Given the description of an element on the screen output the (x, y) to click on. 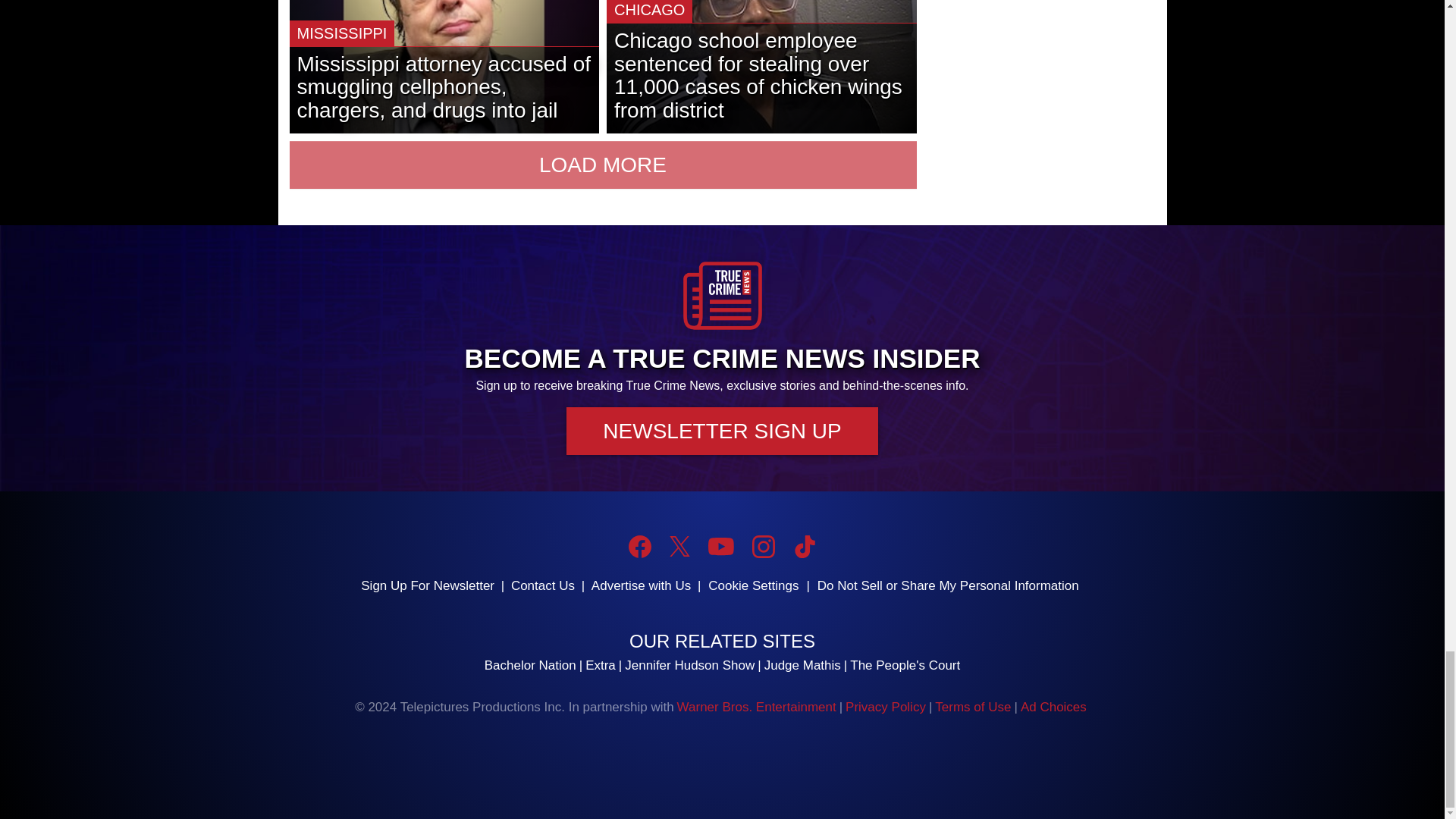
Instagram (763, 546)
YouTube (720, 546)
Twitter (679, 546)
TikTok (804, 546)
Facebook (639, 546)
